Given the description of an element on the screen output the (x, y) to click on. 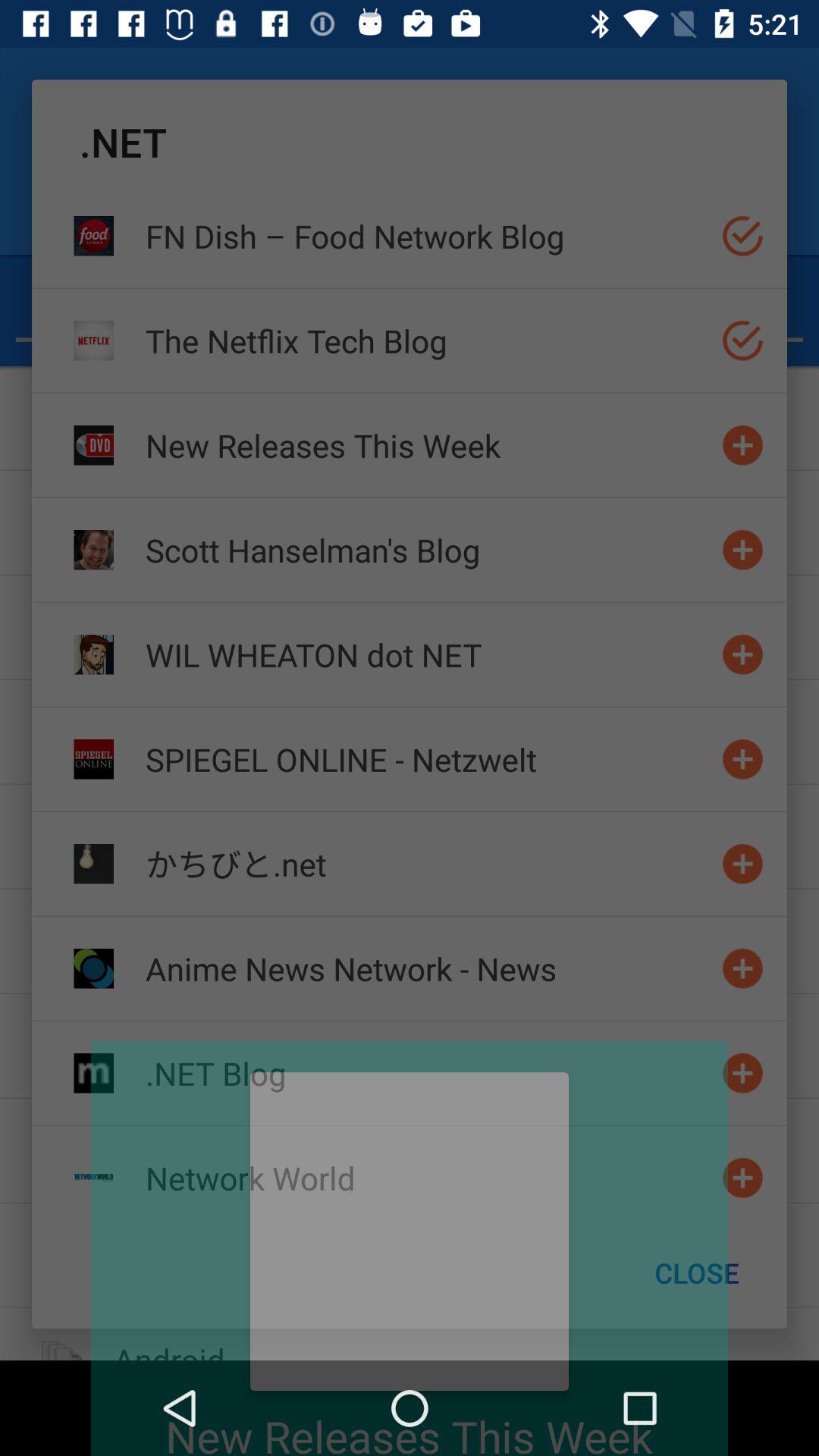
add to list (742, 1177)
